Given the description of an element on the screen output the (x, y) to click on. 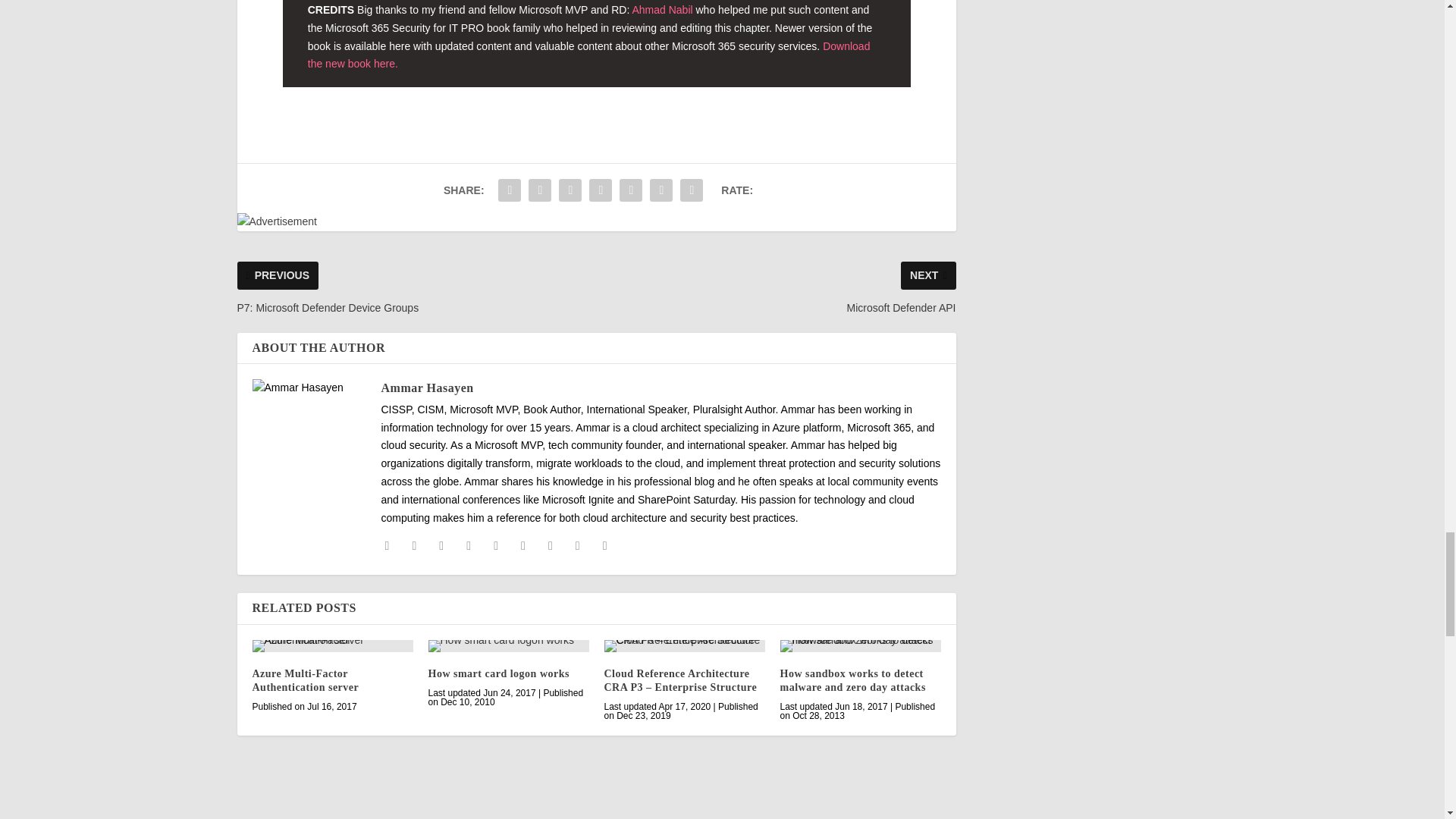
View all posts by Ammar Hasayen (426, 387)
